Given the description of an element on the screen output the (x, y) to click on. 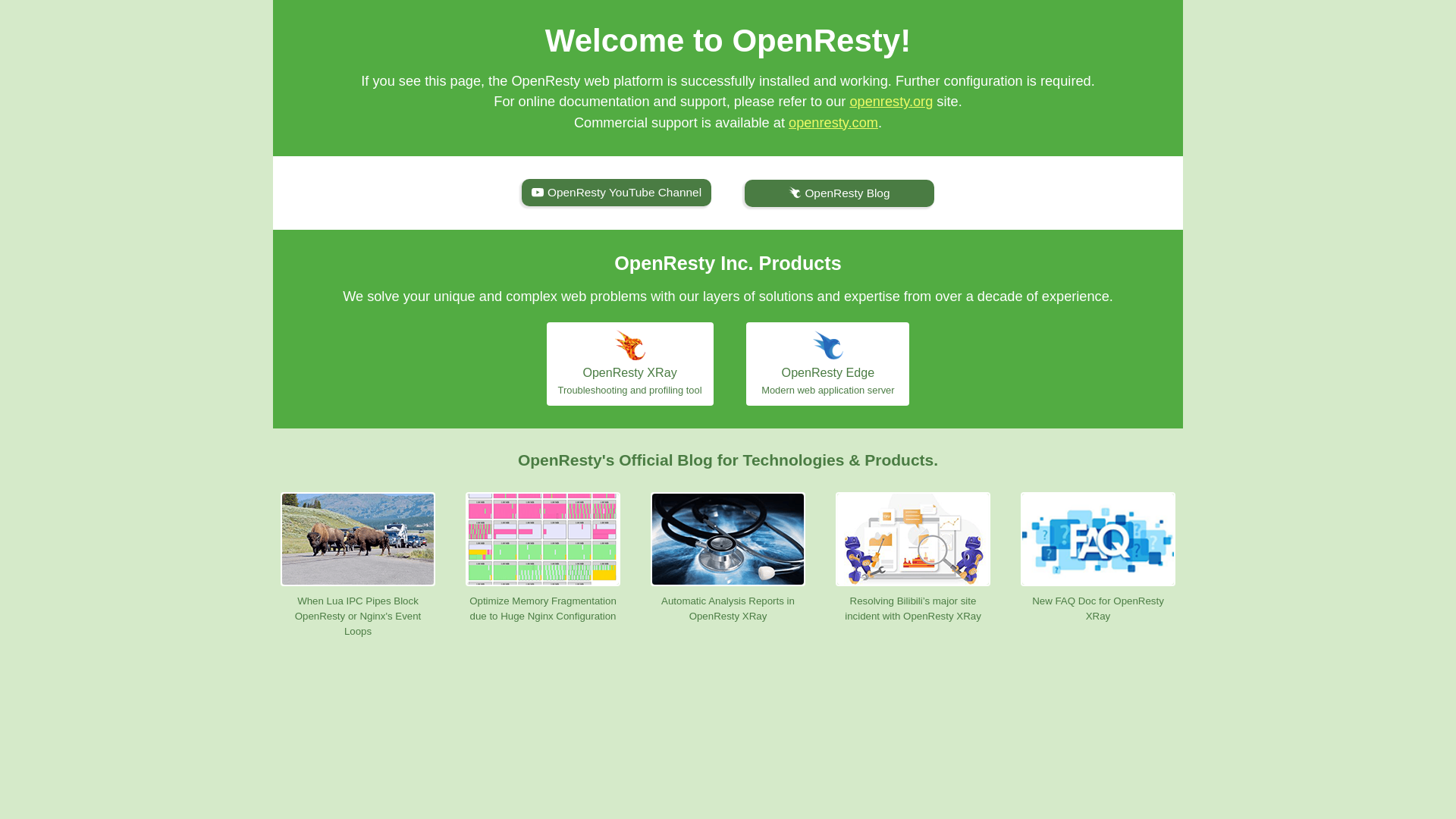
When Lua IPC Pipes Block OpenResty or Nginx's Event Loops Element type: text (357, 565)
OpenResty Edge
Modern web application server Element type: text (827, 363)
New FAQ Doc for OpenResty XRay Element type: text (1097, 558)
OpenResty Blog Element type: text (839, 193)
OpenResty YouTube Channel Element type: text (616, 192)
openresty.com Element type: text (833, 122)
openresty.org Element type: text (890, 101)
OpenResty XRay
Troubleshooting and profiling tool Element type: text (629, 363)
Automatic Analysis Reports in OpenResty XRay Element type: text (727, 558)
